Given the description of an element on the screen output the (x, y) to click on. 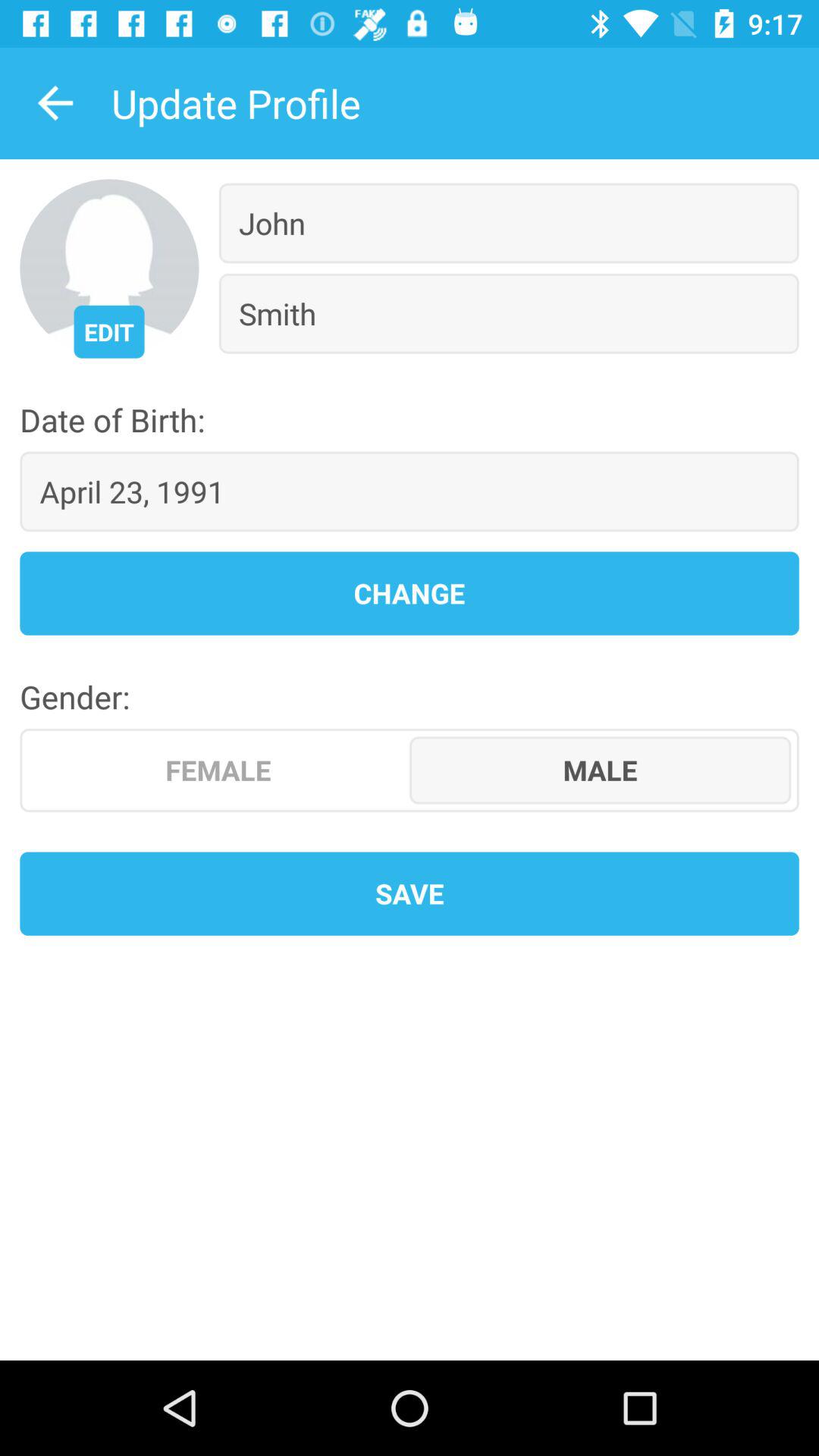
jump until edit (108, 331)
